Given the description of an element on the screen output the (x, y) to click on. 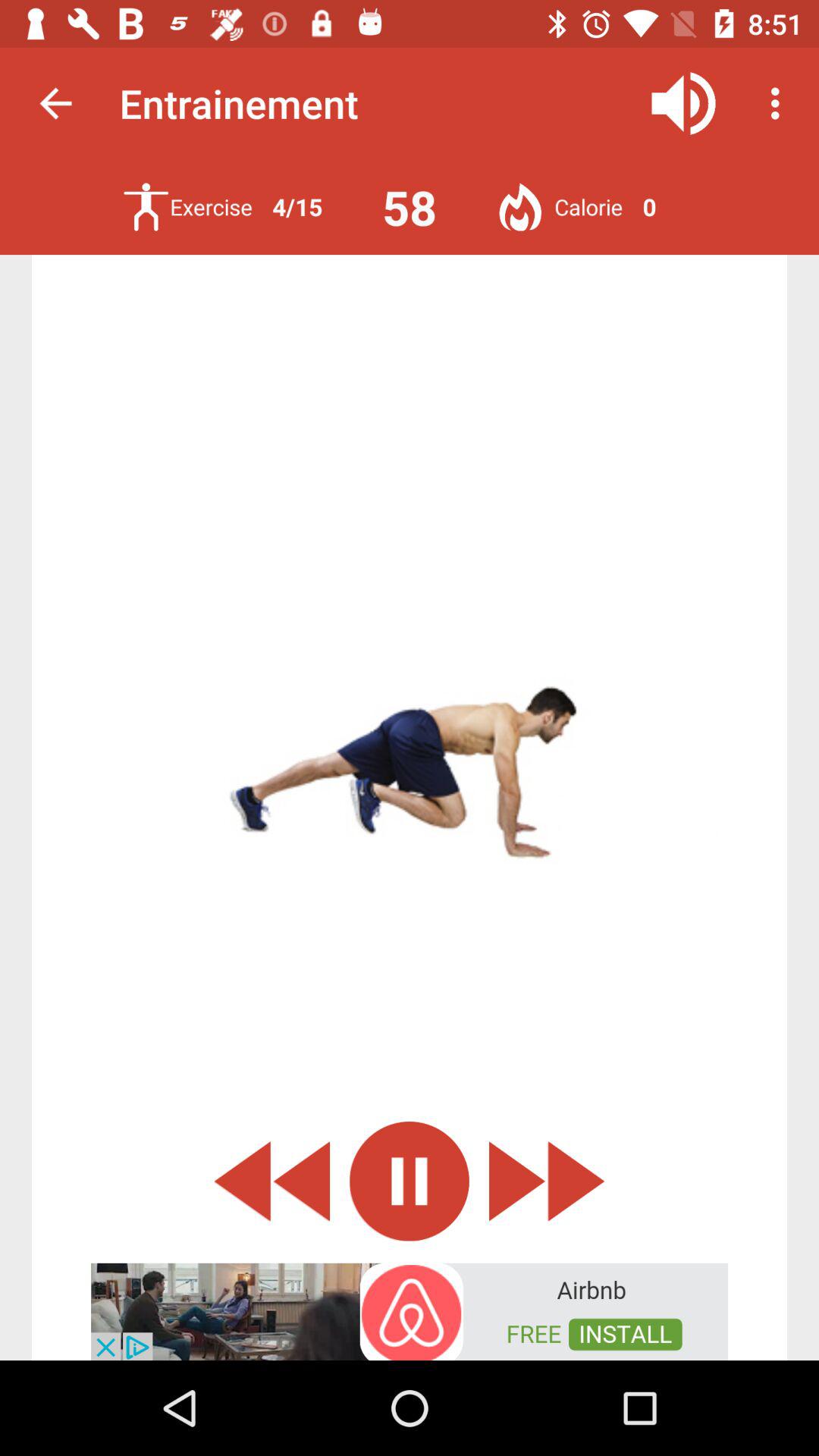
sound adjust option (683, 103)
